Given the description of an element on the screen output the (x, y) to click on. 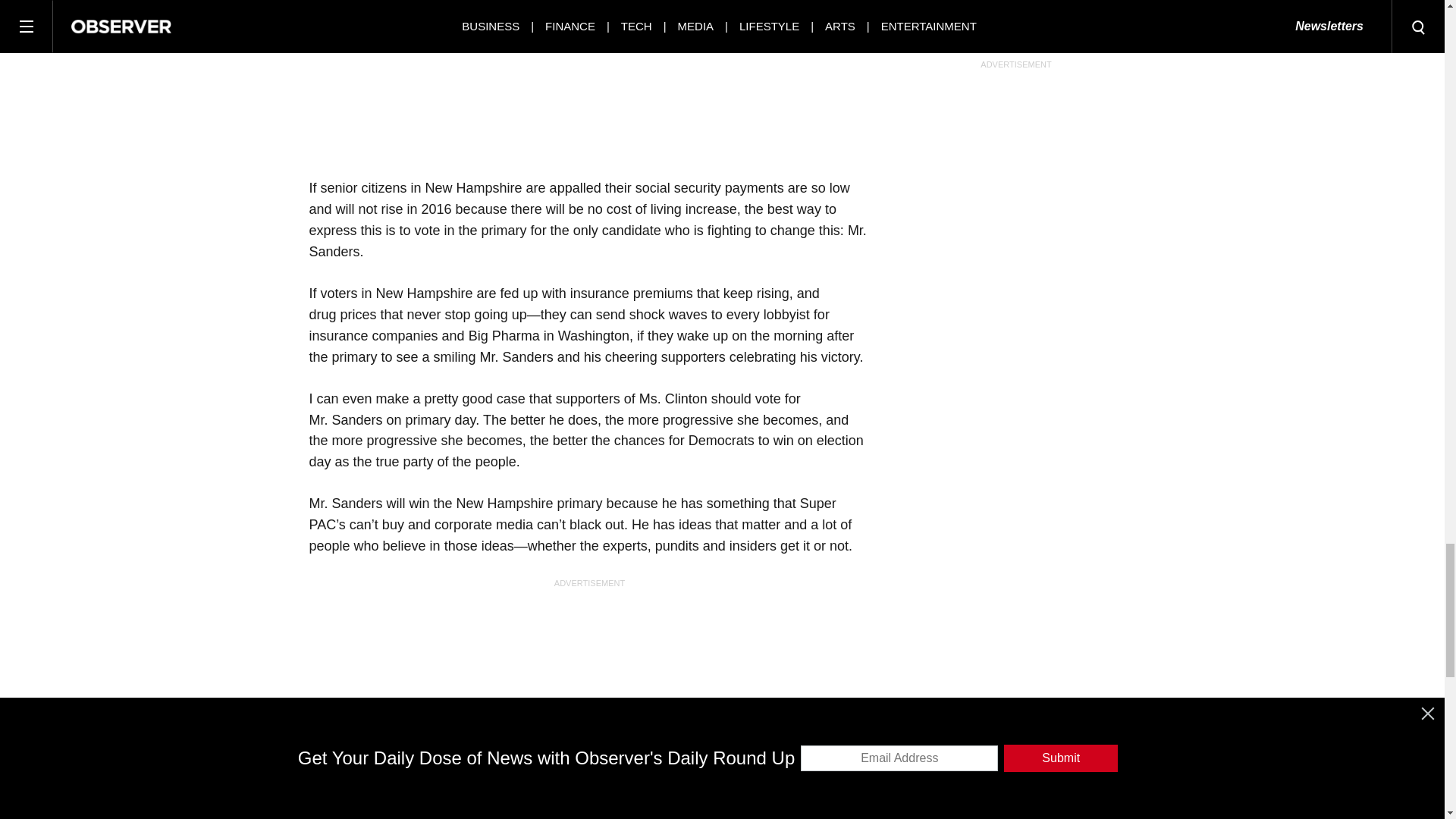
Donald Trump (422, 812)
